Given the description of an element on the screen output the (x, y) to click on. 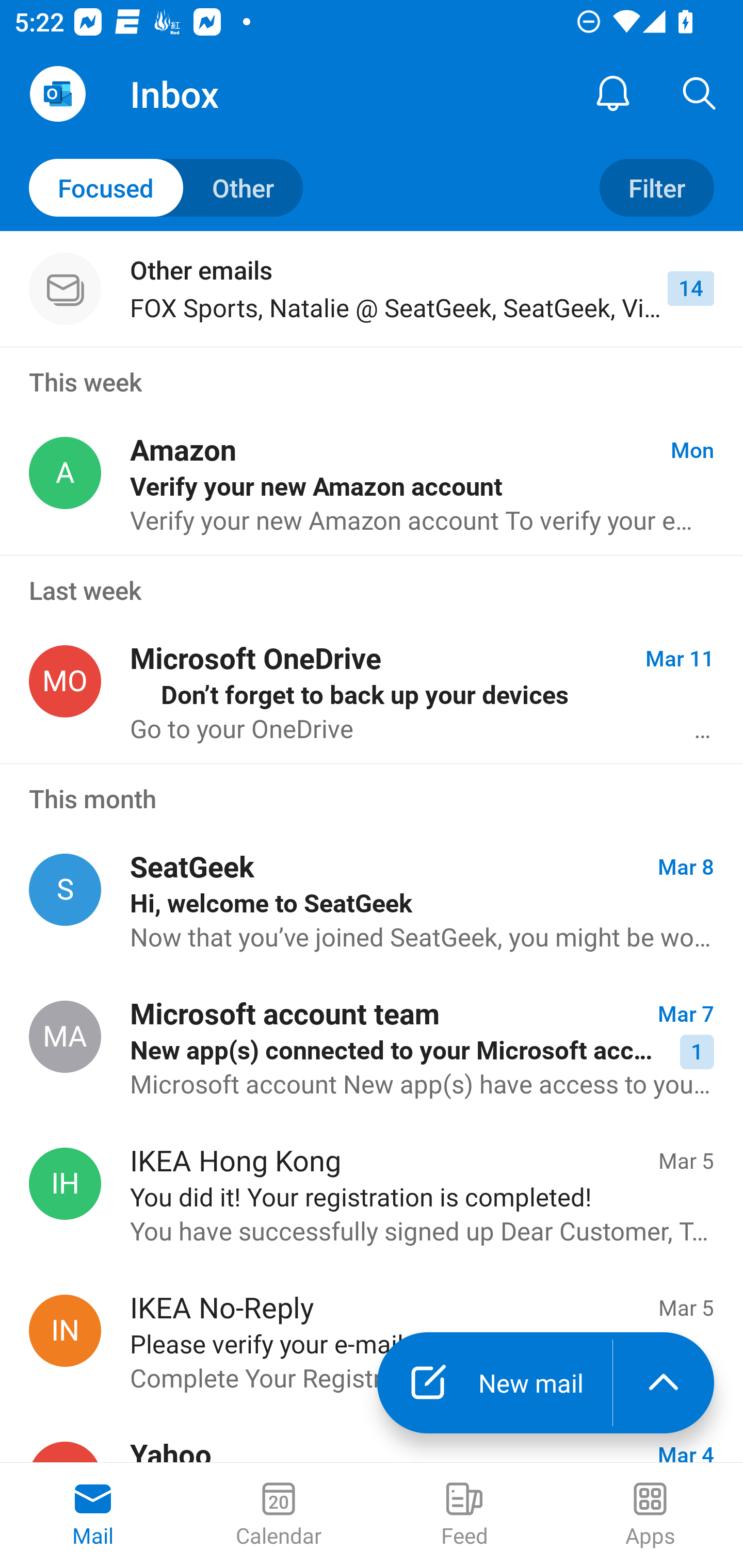
Notification Center (612, 93)
Search, ,  (699, 93)
Open Navigation Drawer (57, 94)
Toggle to other mails (165, 187)
Filter (656, 187)
Amazon, account-update@amazon.com (64, 473)
SeatGeek, events@seatgeek.com (64, 888)
IKEA Hong Kong, IKHK_AWS@ikea.com.hk (64, 1183)
IKEA No-Reply, noreply@ikea.com.hk (64, 1331)
New mail (494, 1382)
launch the extended action menu (663, 1382)
Calendar (278, 1515)
Feed (464, 1515)
Apps (650, 1515)
